Given the description of an element on the screen output the (x, y) to click on. 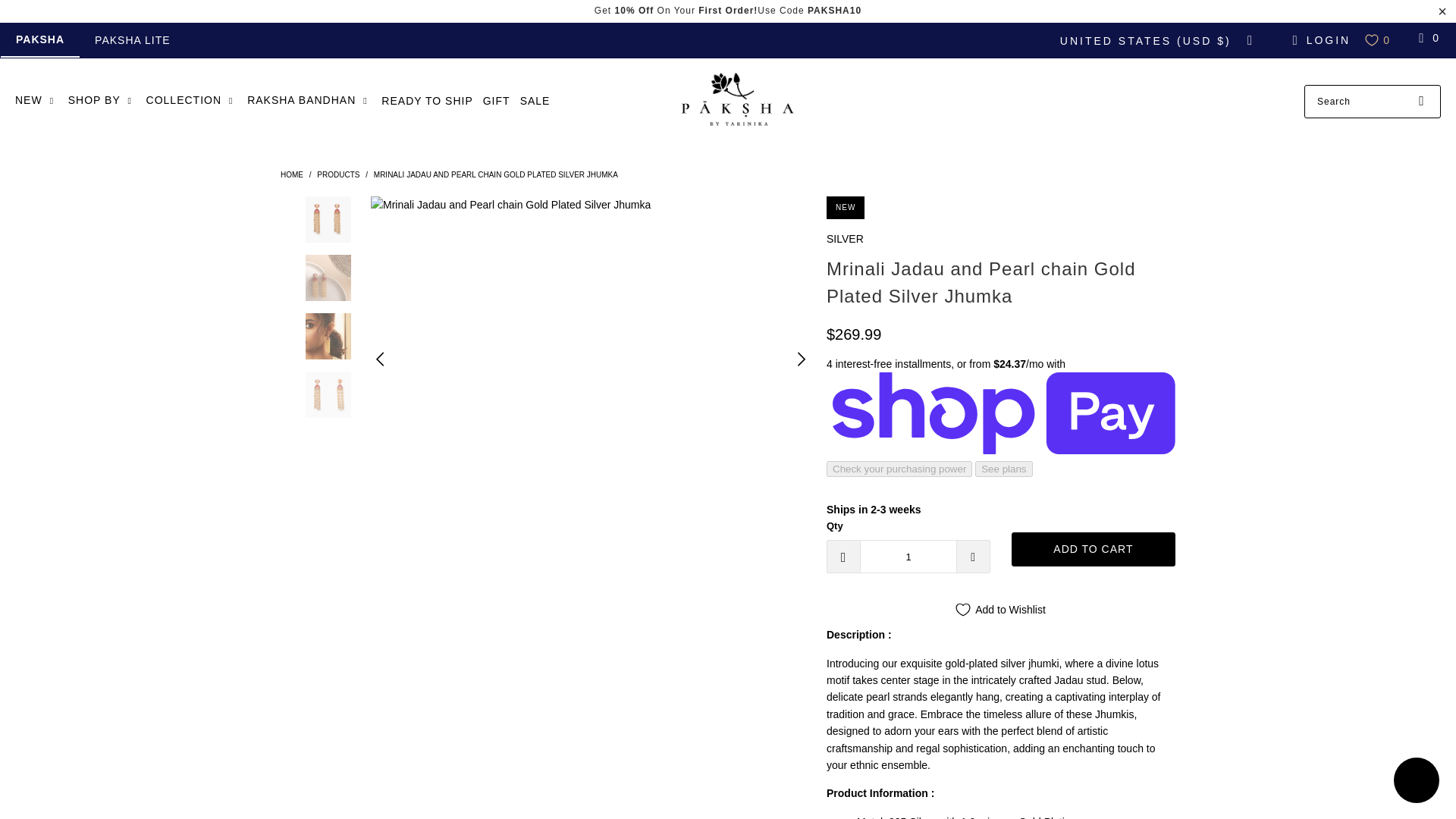
Paksha (734, 101)
Products (338, 174)
Paksha (291, 174)
My Account  (1319, 39)
1 (908, 556)
